Given the description of an element on the screen output the (x, y) to click on. 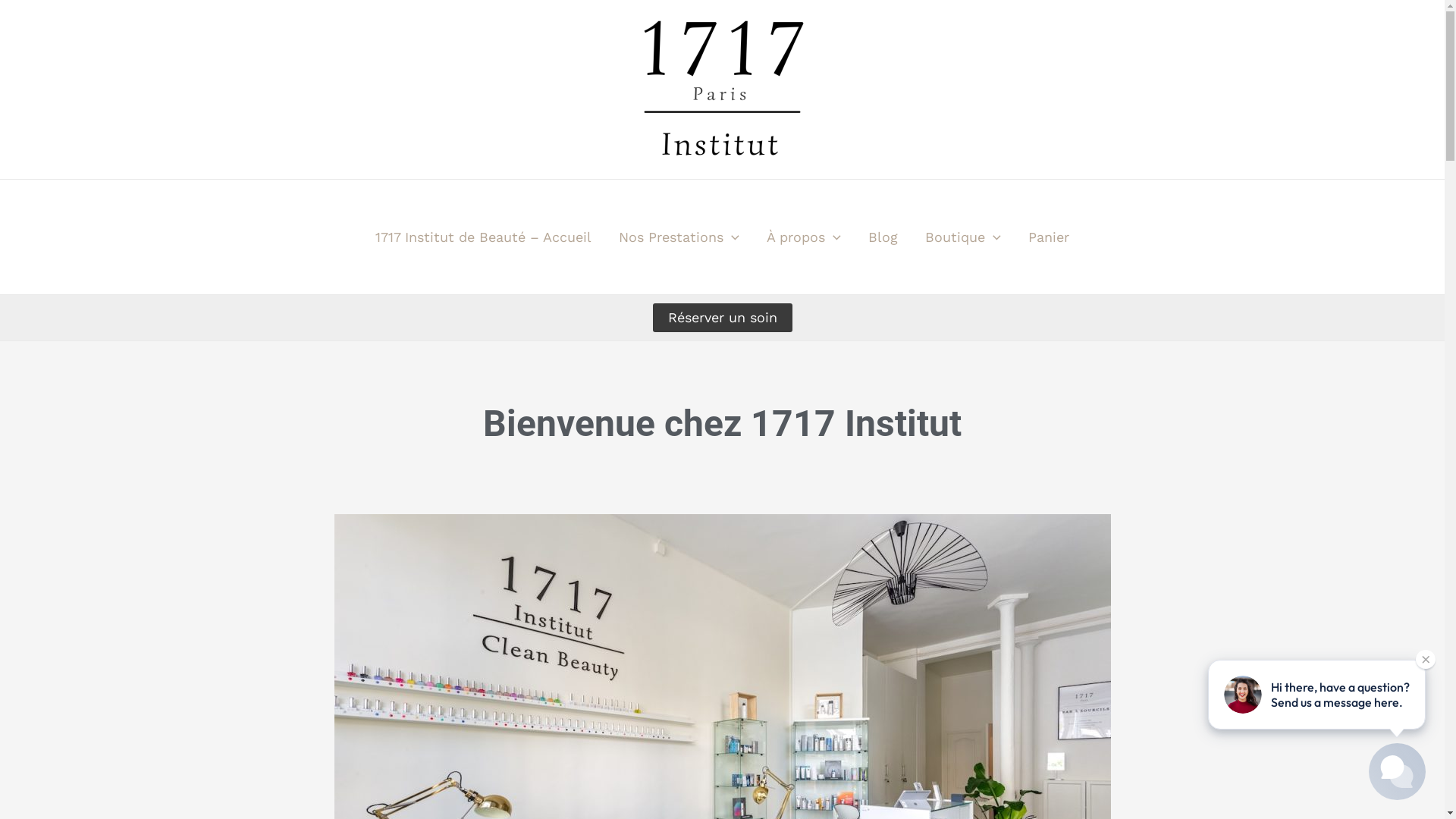
Boutique Element type: text (962, 236)
Panier Element type: text (1048, 236)
Nos Prestations Element type: text (679, 236)
Blog Element type: text (882, 236)
